Given the description of an element on the screen output the (x, y) to click on. 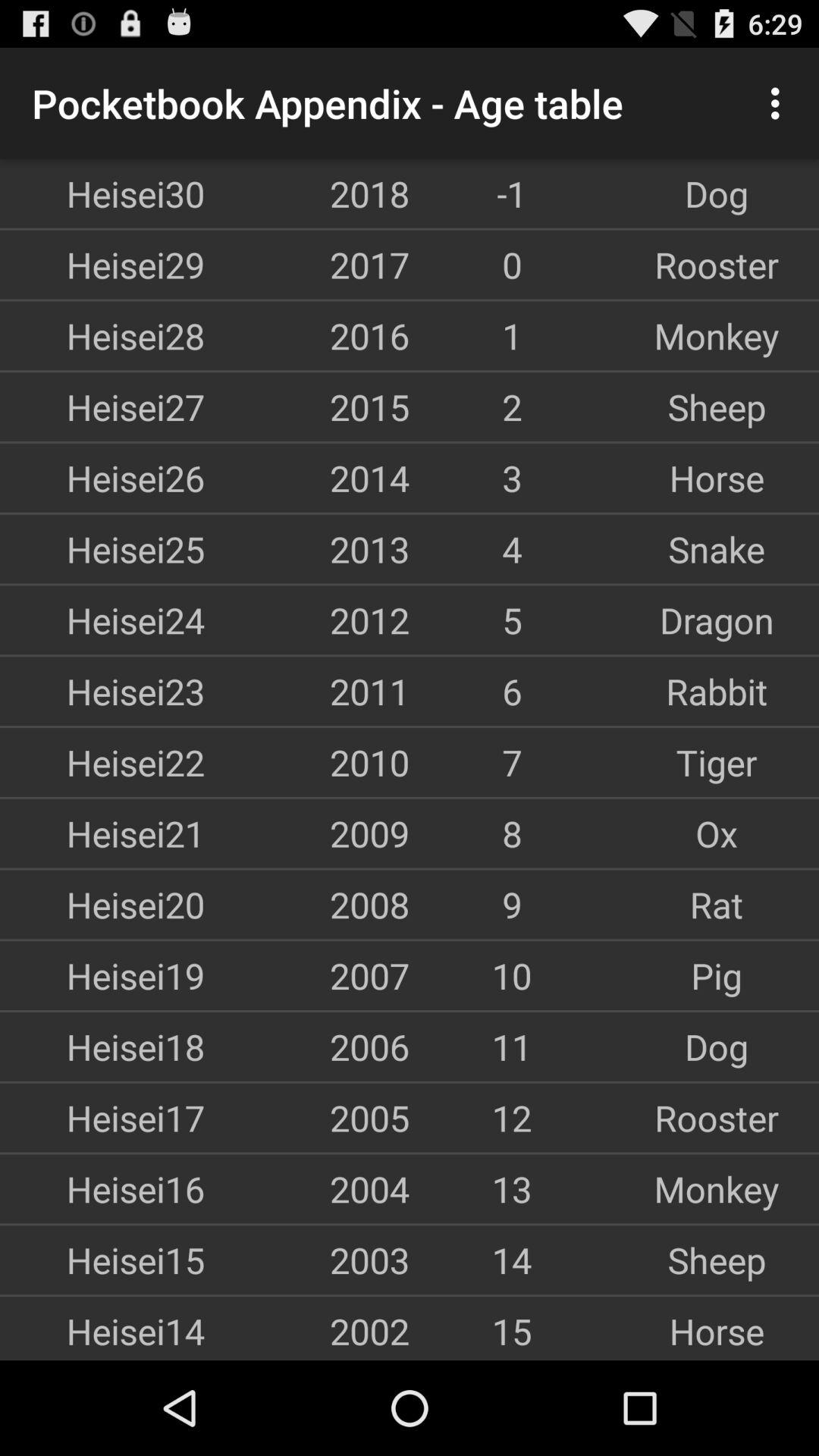
turn off the item above 7 item (716, 691)
